Given the description of an element on the screen output the (x, y) to click on. 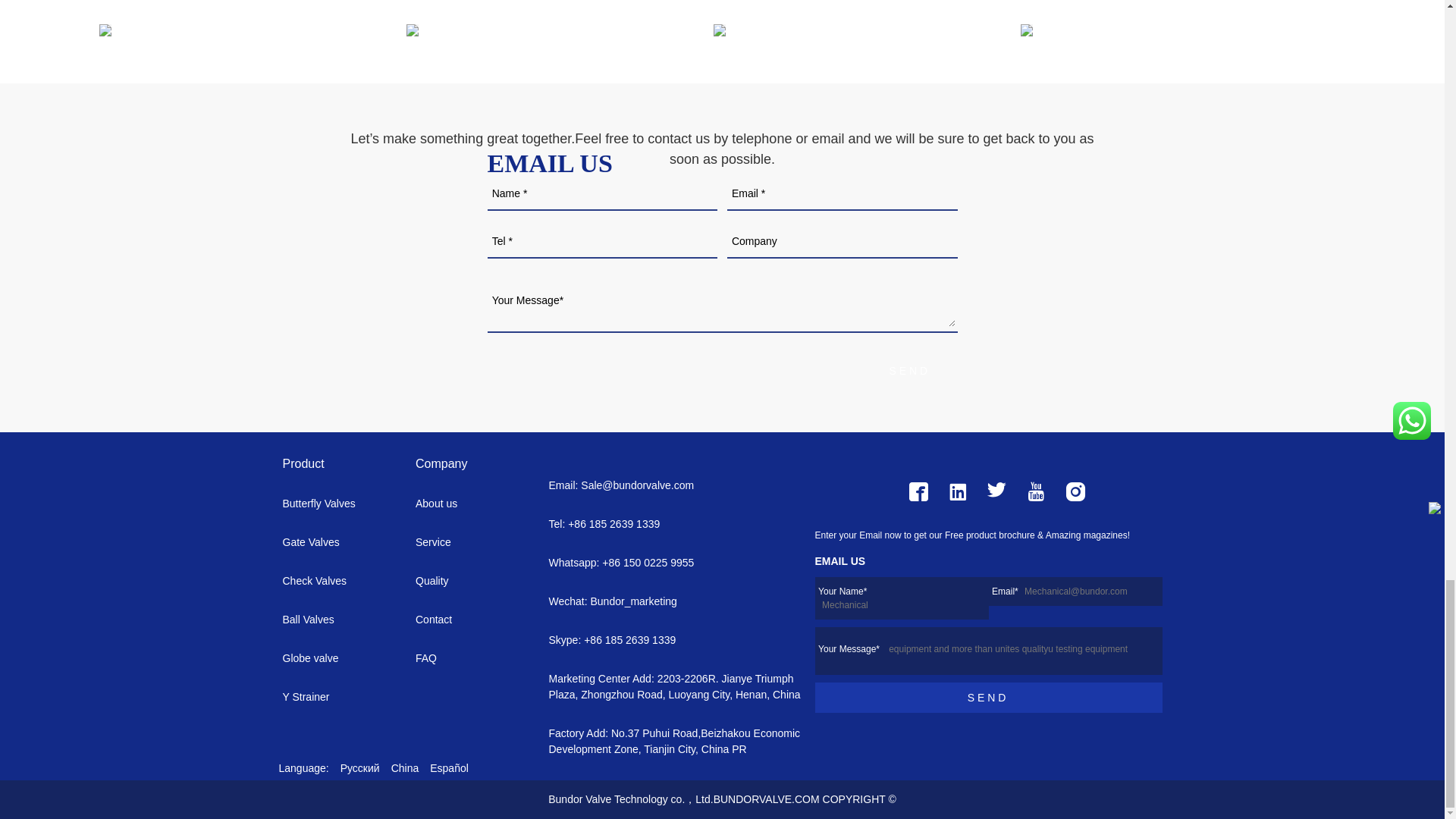
PTFE Worm Gear Wafer Butterfly Valve (835, 29)
Iron Handle Operated Wafer Type Butterfly Valve (221, 29)
PTFE Lined Flange Butterfly Valve (1143, 29)
S E N D (918, 370)
PTFE Lined Lug Butterfly Valve (529, 29)
